Given the description of an element on the screen output the (x, y) to click on. 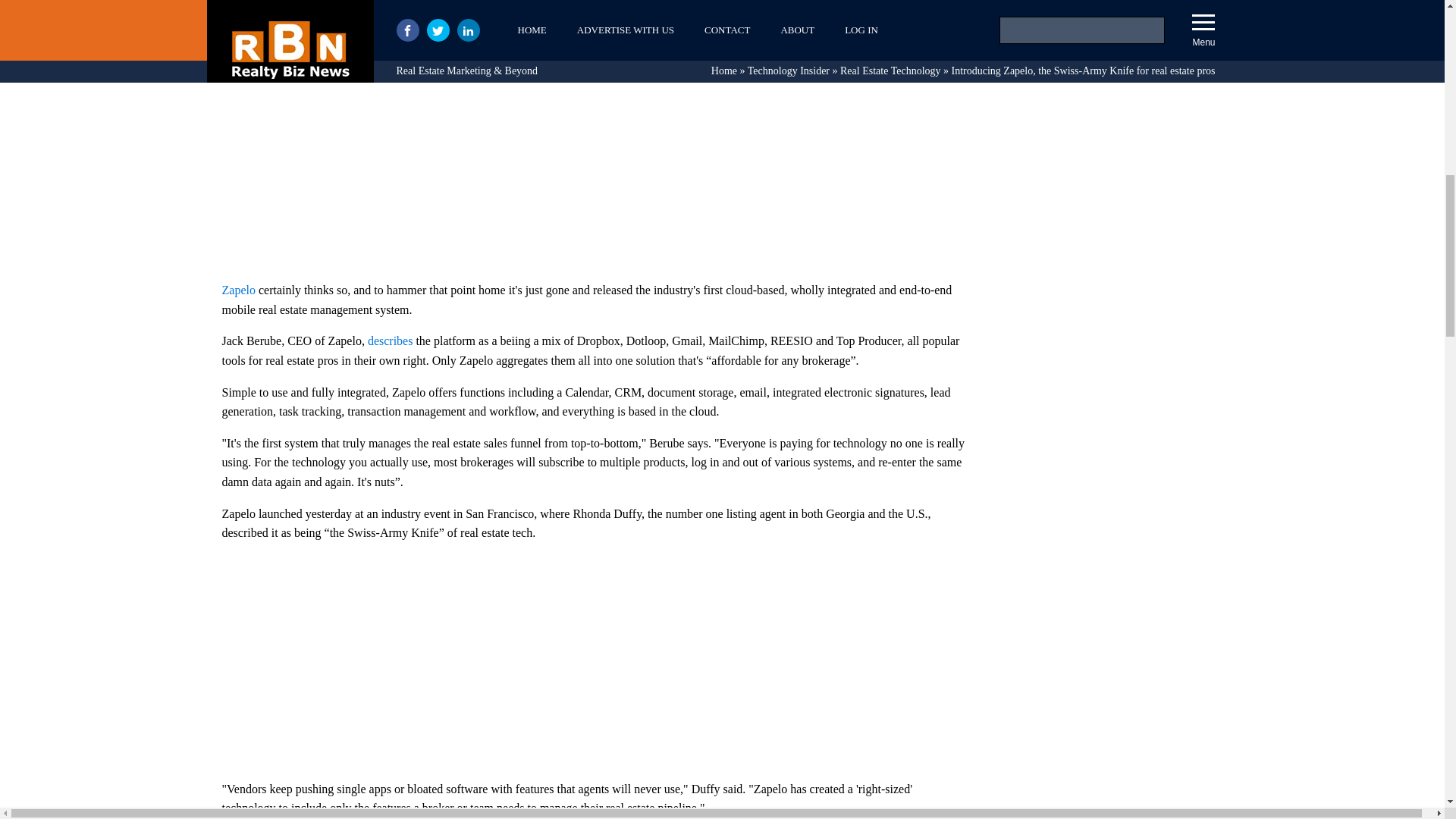
Advertisement (1108, 45)
